Given the description of an element on the screen output the (x, y) to click on. 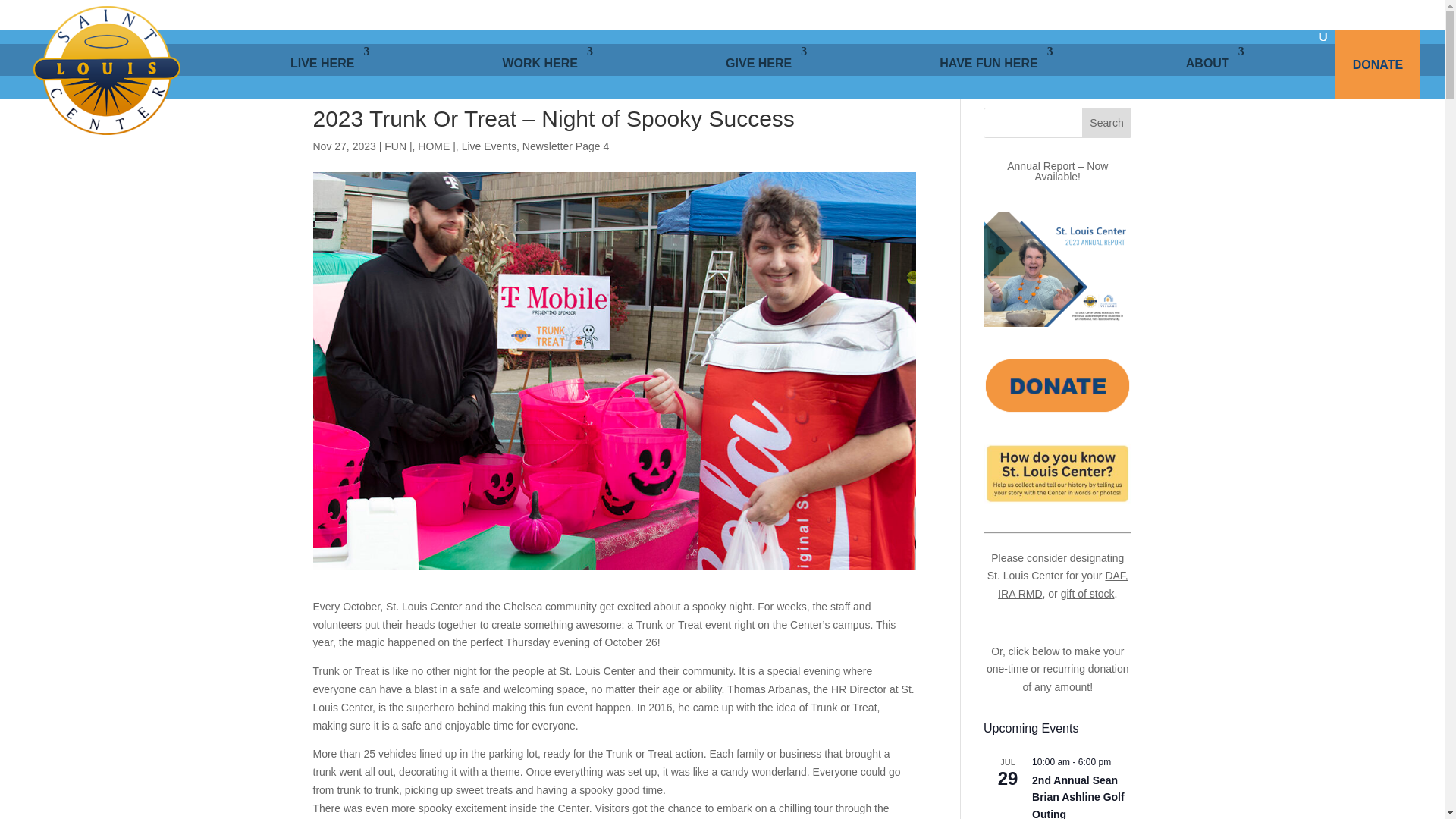
Search (1106, 122)
2nd Annual Sean Brian Ashline Golf Outing (1078, 796)
WORK HERE (547, 63)
ABOUT (1215, 63)
GIVE HERE (765, 63)
LIVE HERE (329, 63)
Family Login (1097, 15)
HAVE FUN HERE (995, 63)
